Given the description of an element on the screen output the (x, y) to click on. 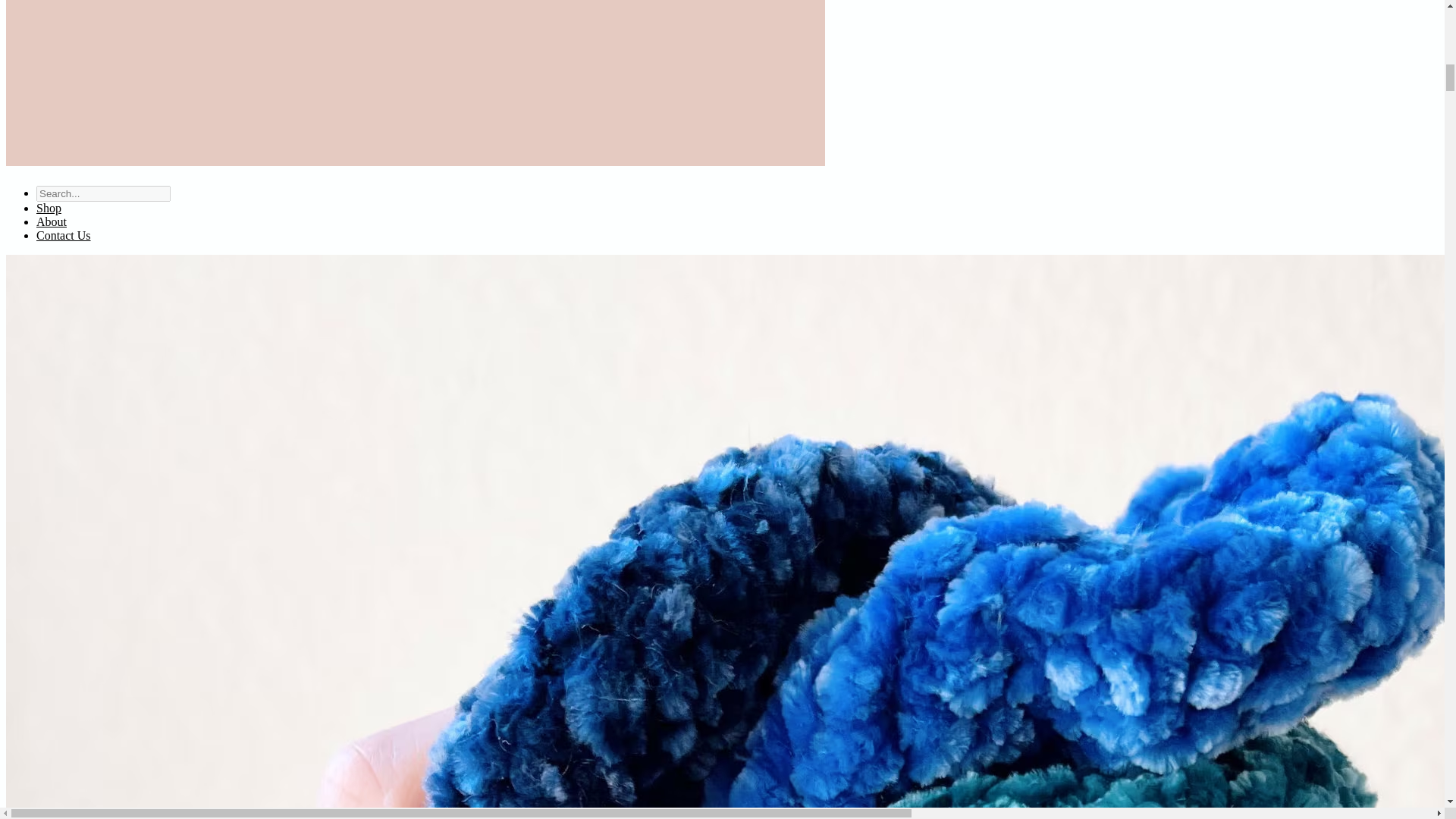
About (51, 221)
Shop (48, 207)
Contact Us (63, 235)
